Given the description of an element on the screen output the (x, y) to click on. 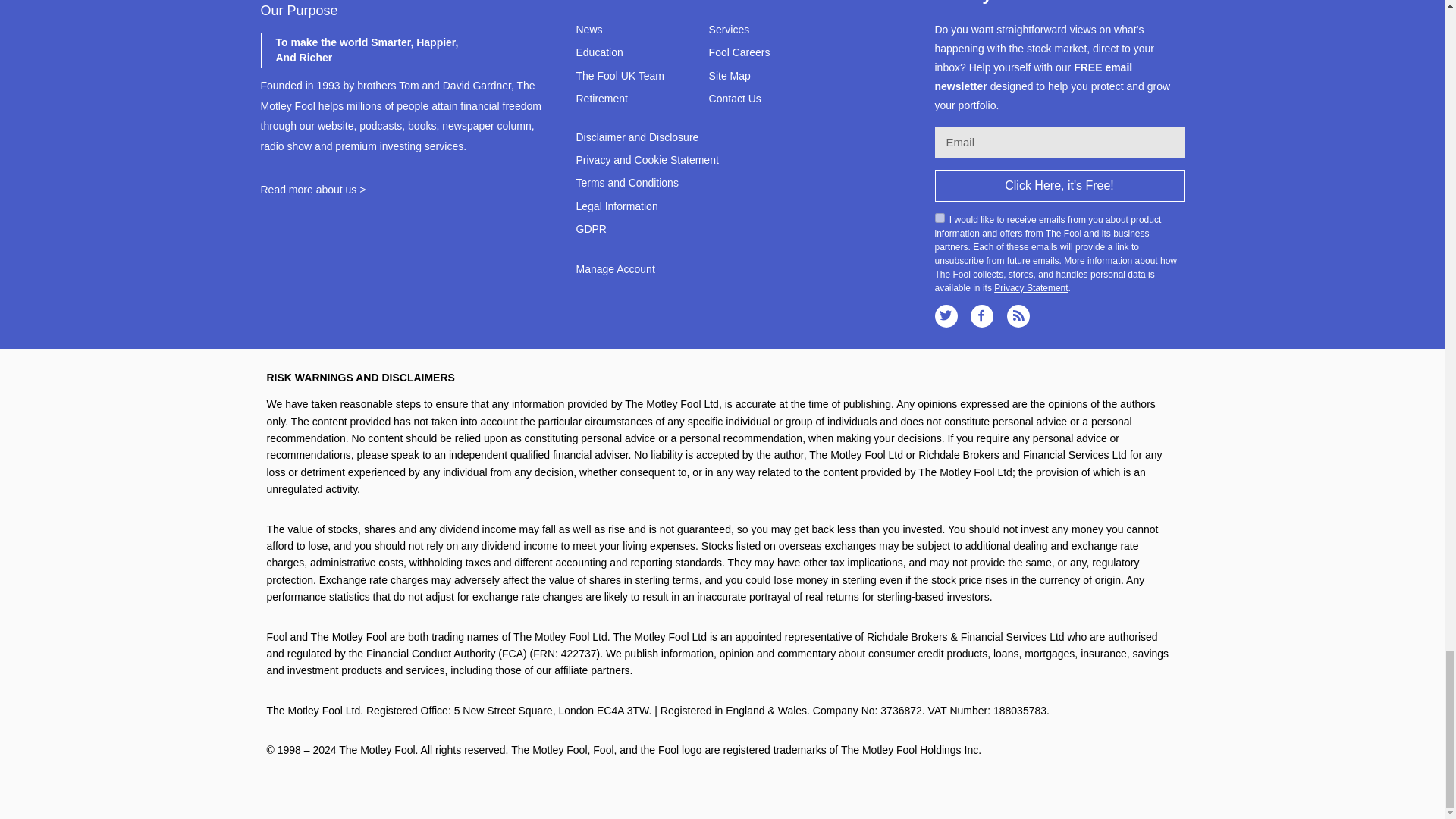
true (938, 216)
